Given the description of an element on the screen output the (x, y) to click on. 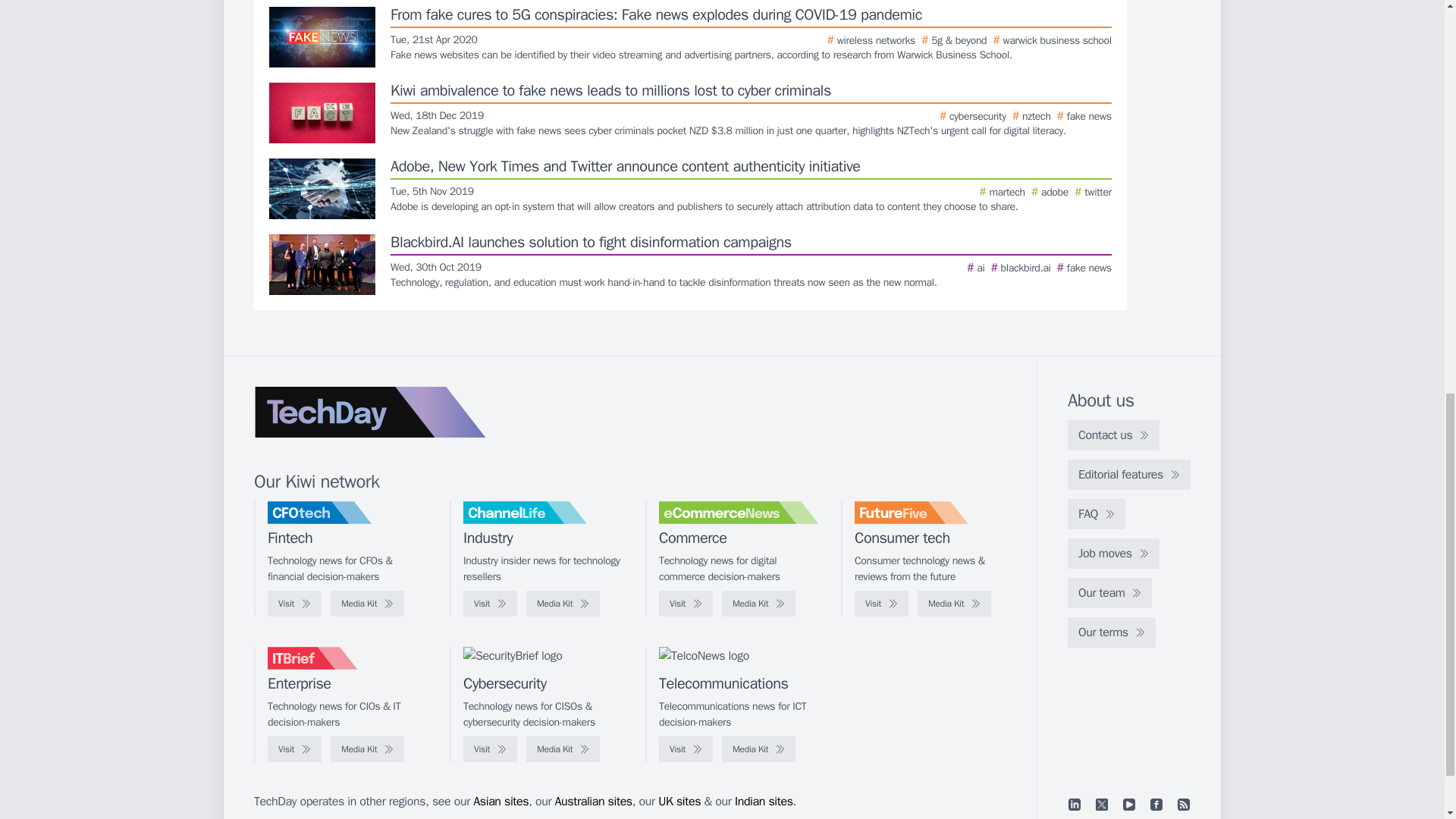
Visit (489, 603)
Indian sites (764, 801)
Media Kit (758, 603)
Visit (881, 603)
Visit (489, 749)
Australian sites (592, 801)
Asian sites (500, 801)
Visit (686, 603)
Visit (294, 603)
Media Kit (758, 749)
